Given the description of an element on the screen output the (x, y) to click on. 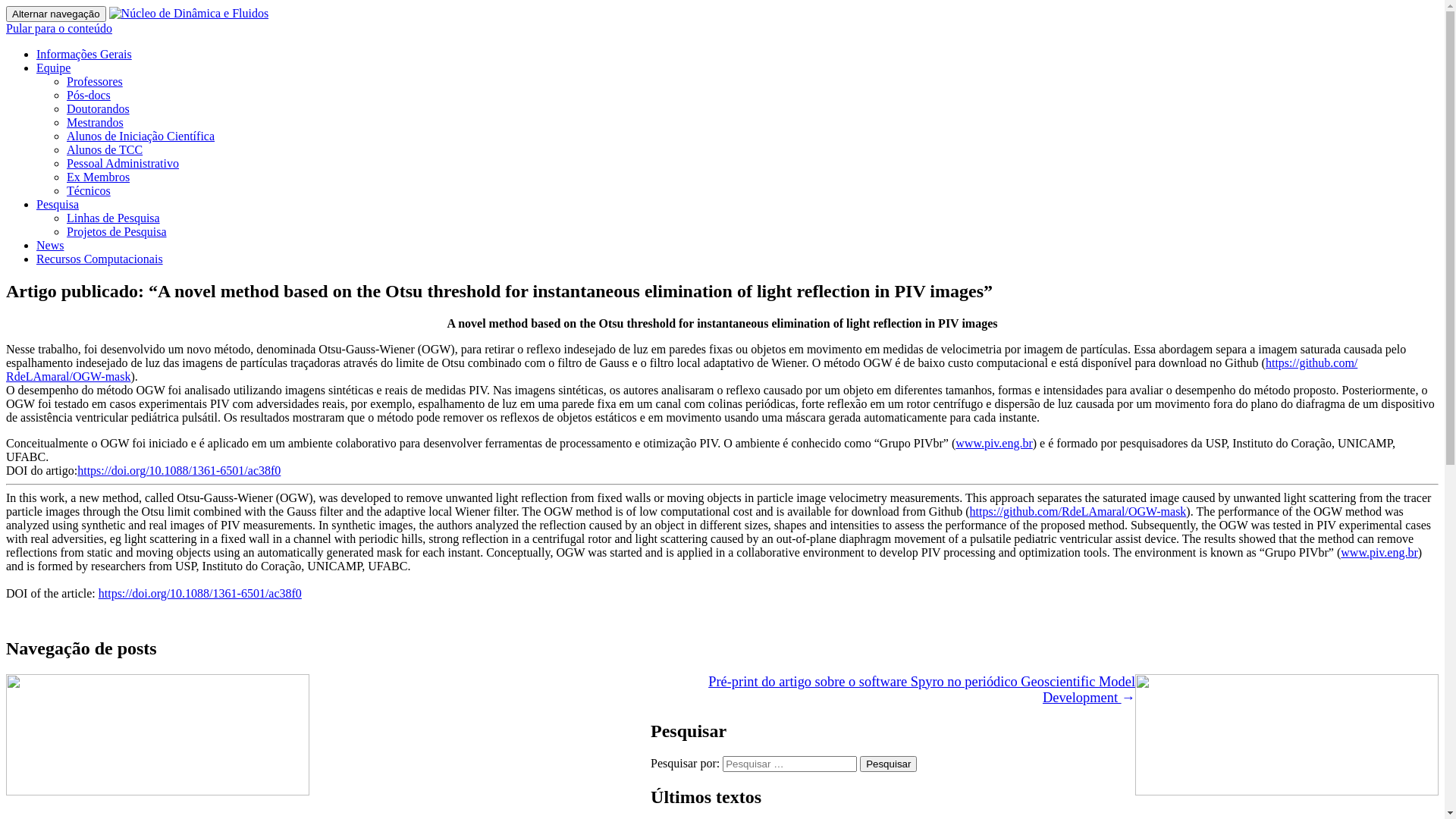
Ex Membros Element type: text (97, 176)
Mestrandos Element type: text (94, 122)
https://doi.org/10.1088/1361-6501/ac38f0 Element type: text (199, 592)
Alunos de TCC Element type: text (104, 149)
https://doi.org/10.1088/1361-6501/ac38f0 Element type: text (178, 470)
Equipe Element type: text (53, 67)
www.piv.eng.br Element type: text (1378, 552)
Doutorandos Element type: text (97, 108)
Linhas de Pesquisa Element type: text (113, 217)
Pessoal Administrativo Element type: text (122, 162)
https://github.com/RdeLAmaral/OGW-mask Element type: text (1077, 511)
Projetos de Pesquisa Element type: text (116, 231)
Professores Element type: text (94, 81)
Pesquisar Element type: text (887, 763)
https://github.com/RdeLAmaral/OGW-mask Element type: text (681, 369)
Recursos Computacionais Element type: text (99, 258)
News Element type: text (49, 244)
Pesquisa Element type: text (57, 203)
www.piv.eng.br Element type: text (993, 442)
